Given the description of an element on the screen output the (x, y) to click on. 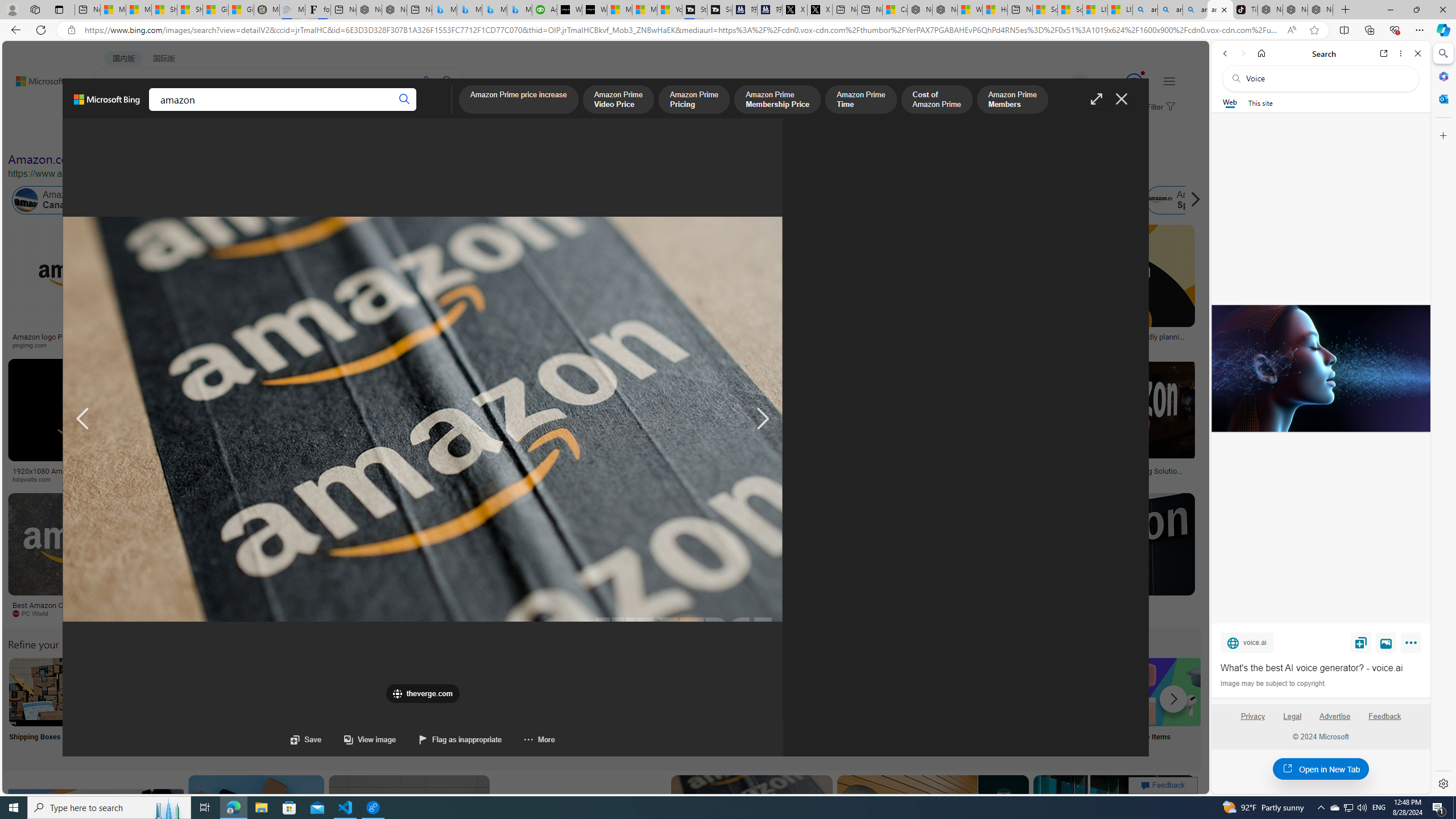
Advertise (1334, 720)
Type (212, 135)
DICT (357, 111)
theverge.com (1118, 344)
Shanghai, China weather forecast | Microsoft Weather (189, 9)
Amazon Clip Art Clip Art (192, 706)
pngimg.com (34, 344)
Amazon.com.au (881, 200)
Amazon India (483, 200)
